Given the description of an element on the screen output the (x, y) to click on. 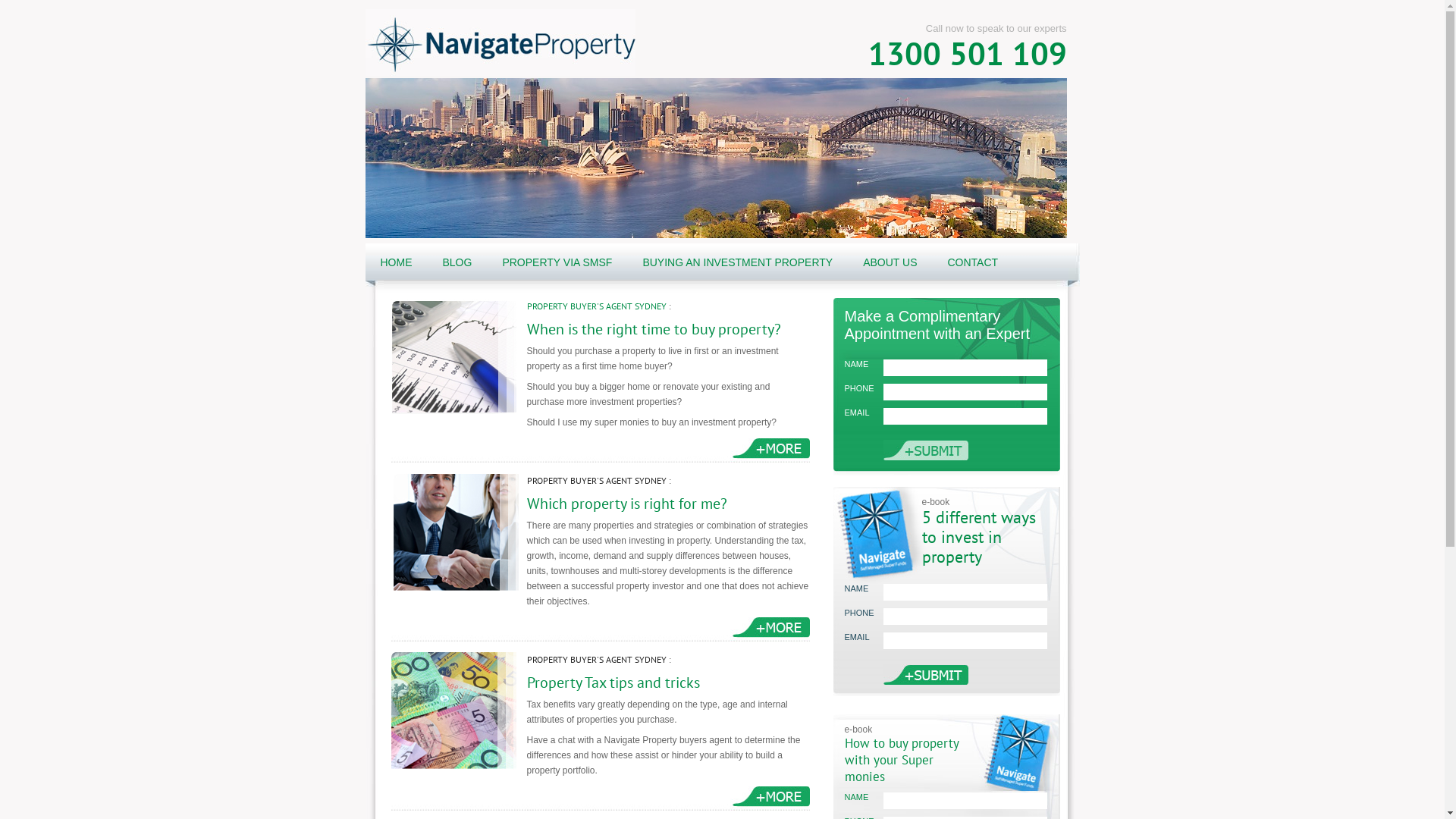
Property Tax tips and tricks Element type: text (612, 682)
HOME Element type: text (396, 262)
ABOUT US Element type: text (889, 262)
PROPERTY BUYER'S AGENT SYDNEY Element type: text (595, 305)
PROPERTY BUYER'S AGENT SYDNEY Element type: text (595, 480)
PROPERTY BUYER'S AGENT SYDNEY Element type: text (595, 659)
CONTACT Element type: text (972, 262)
When is the right time to buy property? Element type: text (653, 328)
BLOG Element type: text (457, 262)
PROPERTY VIA SMSF Element type: text (556, 262)
Which property is right for me? Element type: text (626, 503)
BUYING AN INVESTMENT PROPERTY Element type: text (737, 262)
